Given the description of an element on the screen output the (x, y) to click on. 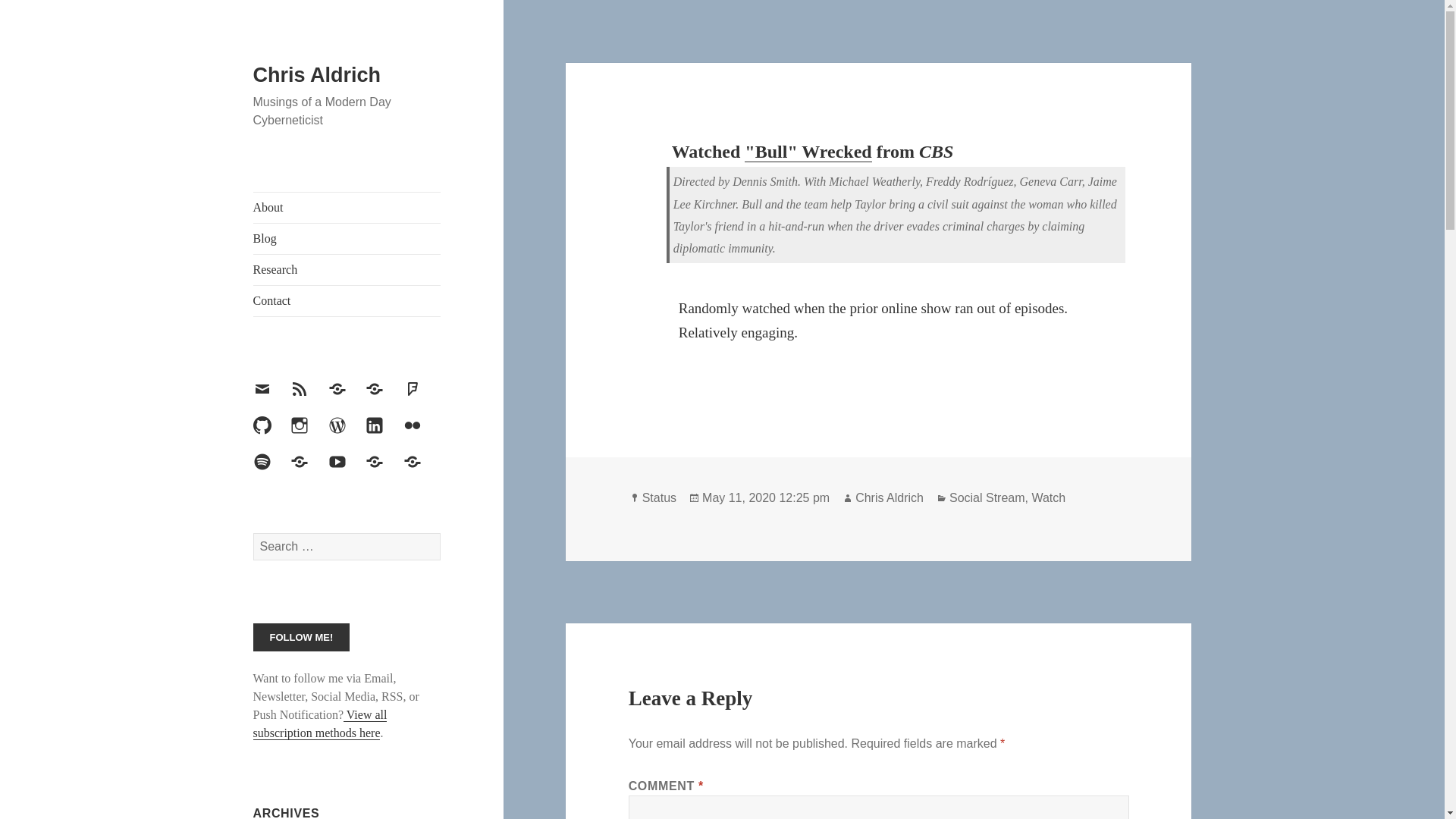
Chris Aldrich (317, 74)
About (347, 207)
Blog (347, 238)
Follow Me! (301, 637)
